Given the description of an element on the screen output the (x, y) to click on. 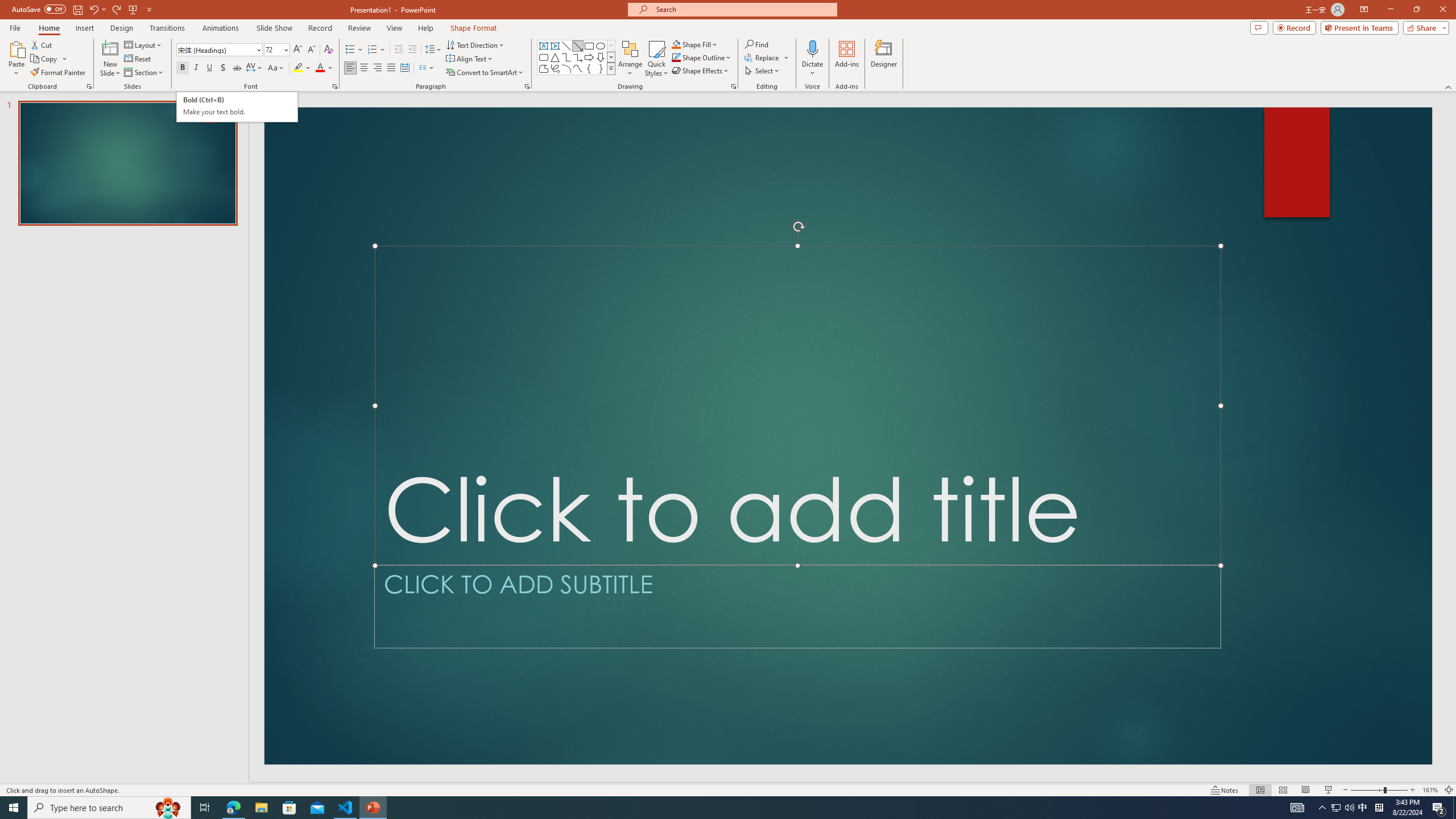
Increase Indent (412, 49)
Zoom 161% (1430, 790)
Copy (49, 58)
Character Spacing (254, 67)
Strikethrough (237, 67)
Font... (334, 85)
Row up (611, 45)
Shape Format (473, 28)
Numbering (372, 49)
